Given the description of an element on the screen output the (x, y) to click on. 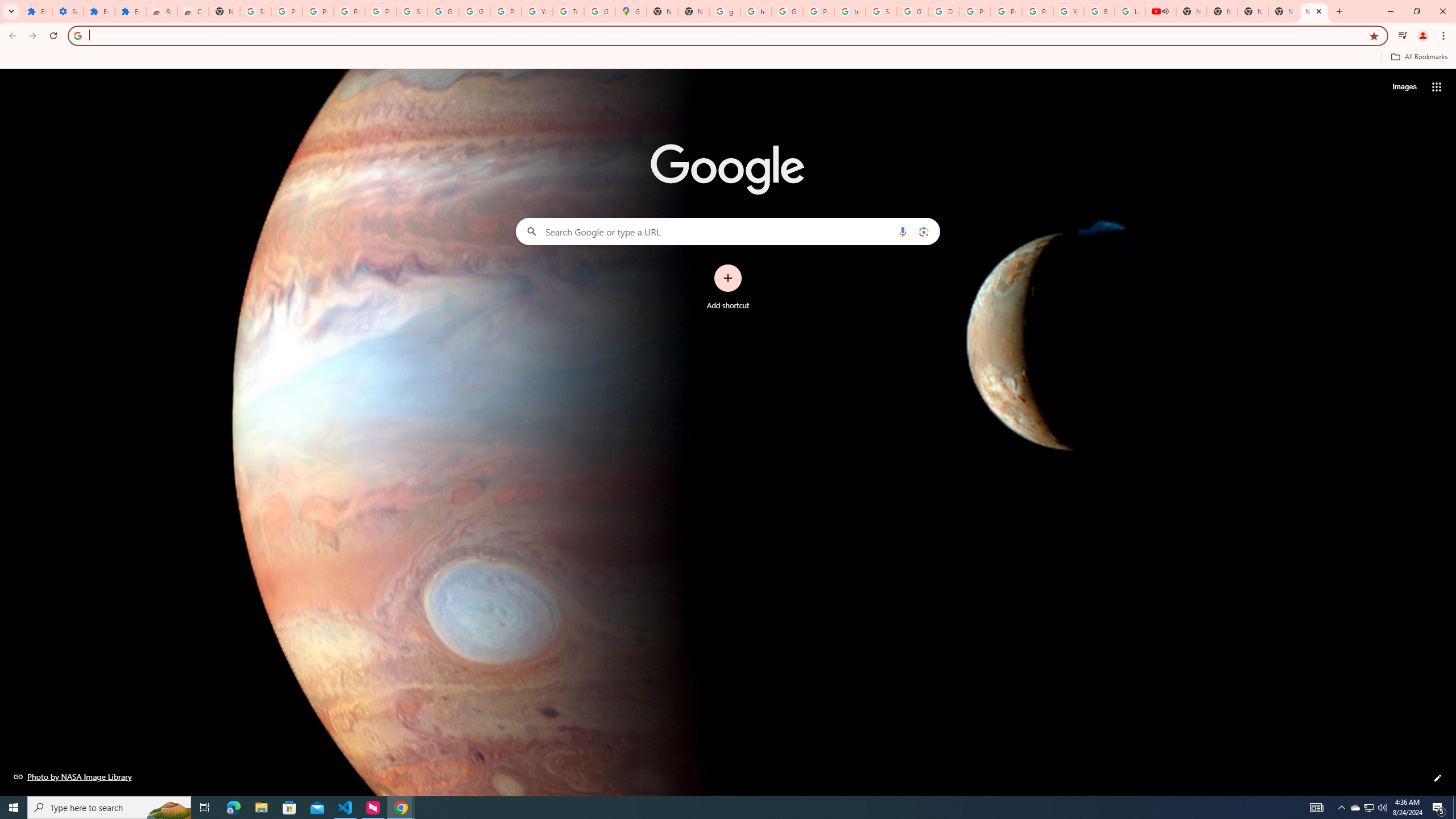
https://scholar.google.com/ (756, 11)
Add shortcut (727, 287)
Reviews: Helix Fruit Jump Arcade Game (161, 11)
https://scholar.google.com/ (849, 11)
Chrome Web Store - Themes (192, 11)
